Given the description of an element on the screen output the (x, y) to click on. 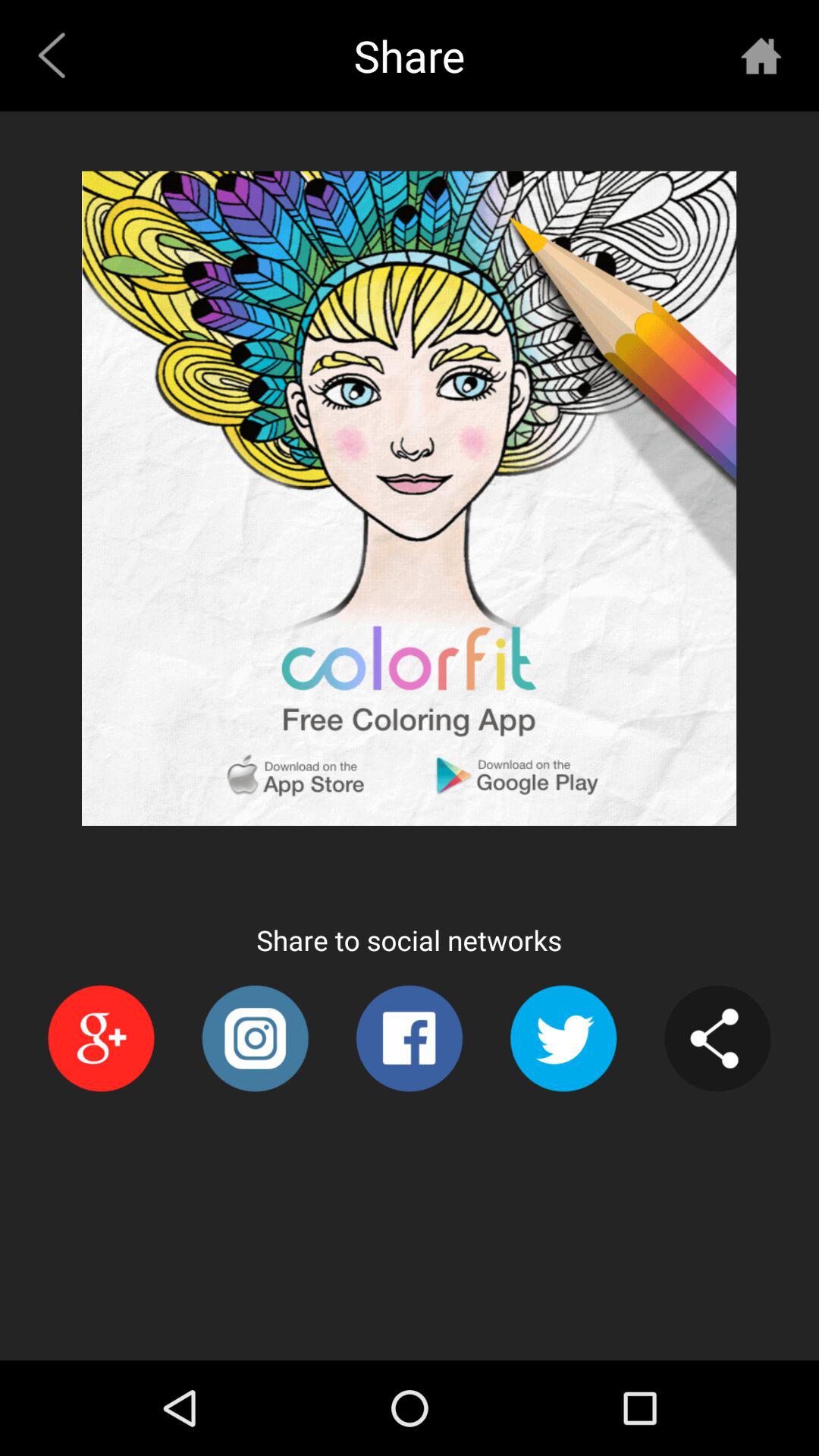
facebook page launcher (409, 1038)
